Given the description of an element on the screen output the (x, y) to click on. 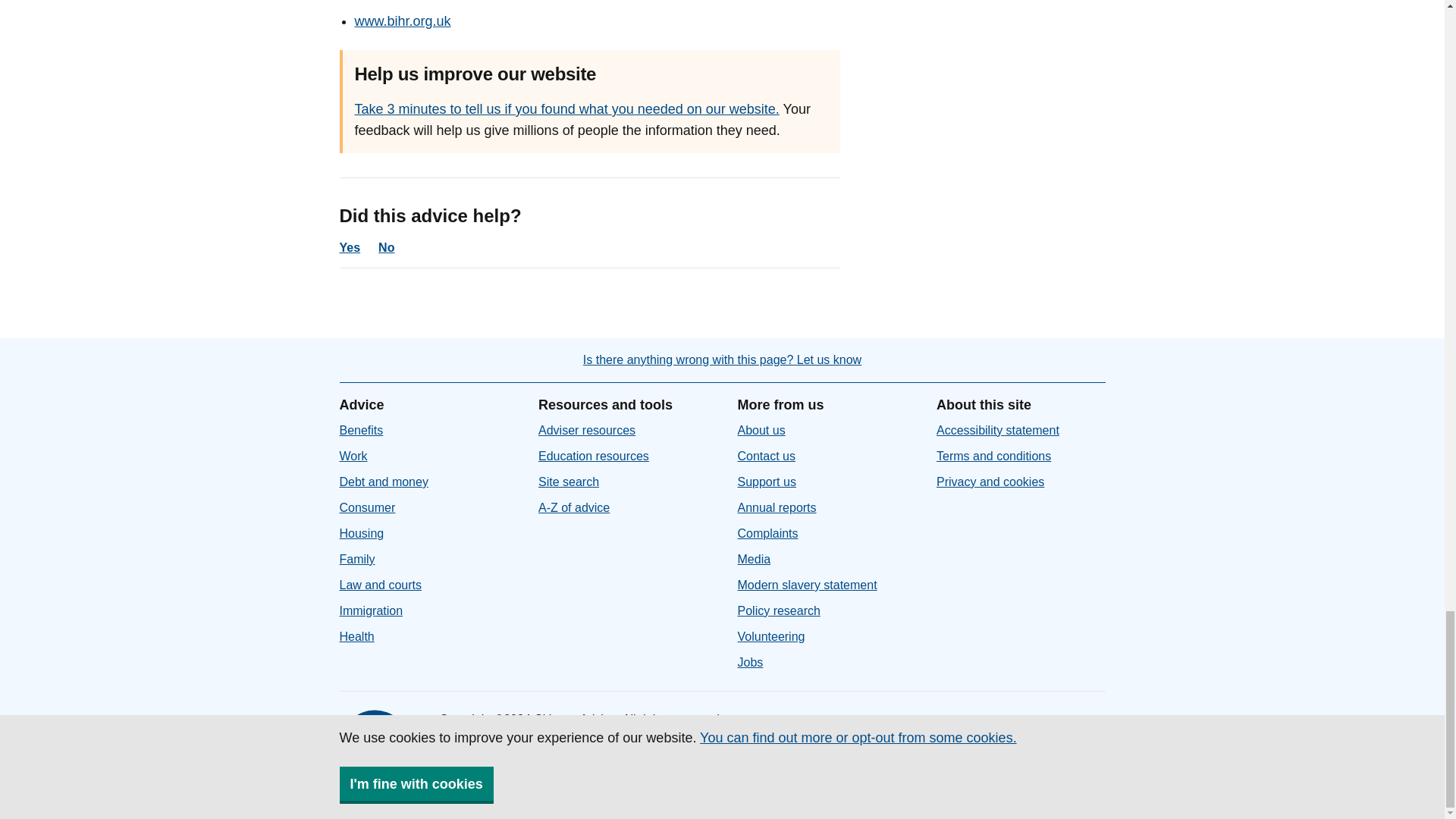
Citizens Advice homepage (376, 747)
